Given the description of an element on the screen output the (x, y) to click on. 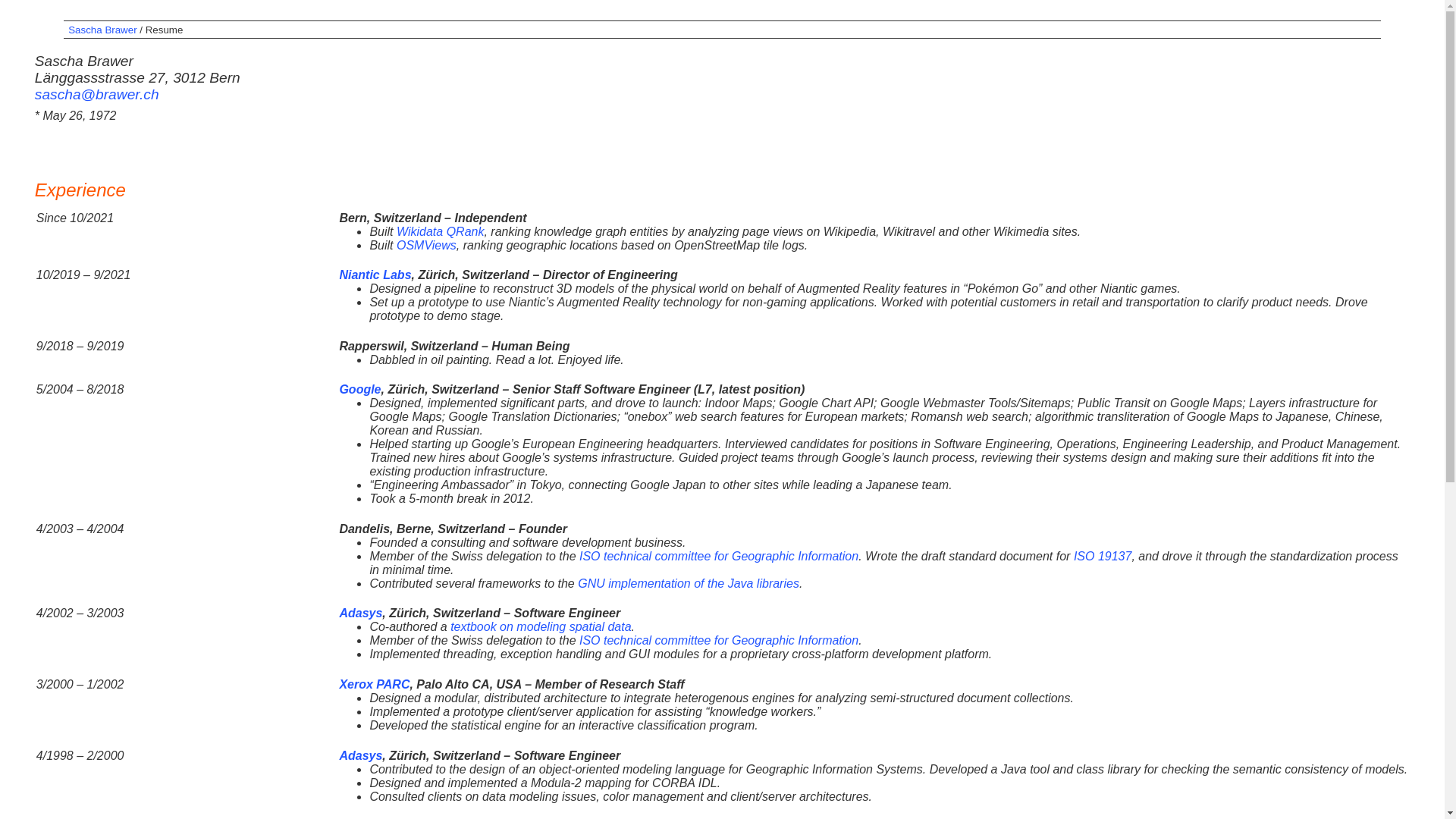
textbook on modeling spatial data Element type: text (540, 626)
ISO 19137 Element type: text (1102, 555)
Wikidata QRank Element type: text (439, 231)
OSMViews Element type: text (426, 244)
Adasys Element type: text (360, 612)
Sascha Brawer Element type: text (102, 29)
sascha@brawer.ch Element type: text (96, 94)
Niantic Labs Element type: text (374, 274)
Google Element type: text (359, 388)
GNU implementation of the Java libraries Element type: text (688, 583)
ISO technical committee for Geographic Information Element type: text (718, 555)
Adasys Element type: text (360, 755)
ISO technical committee for Geographic Information Element type: text (718, 639)
Xerox PARC Element type: text (373, 683)
